Given the description of an element on the screen output the (x, y) to click on. 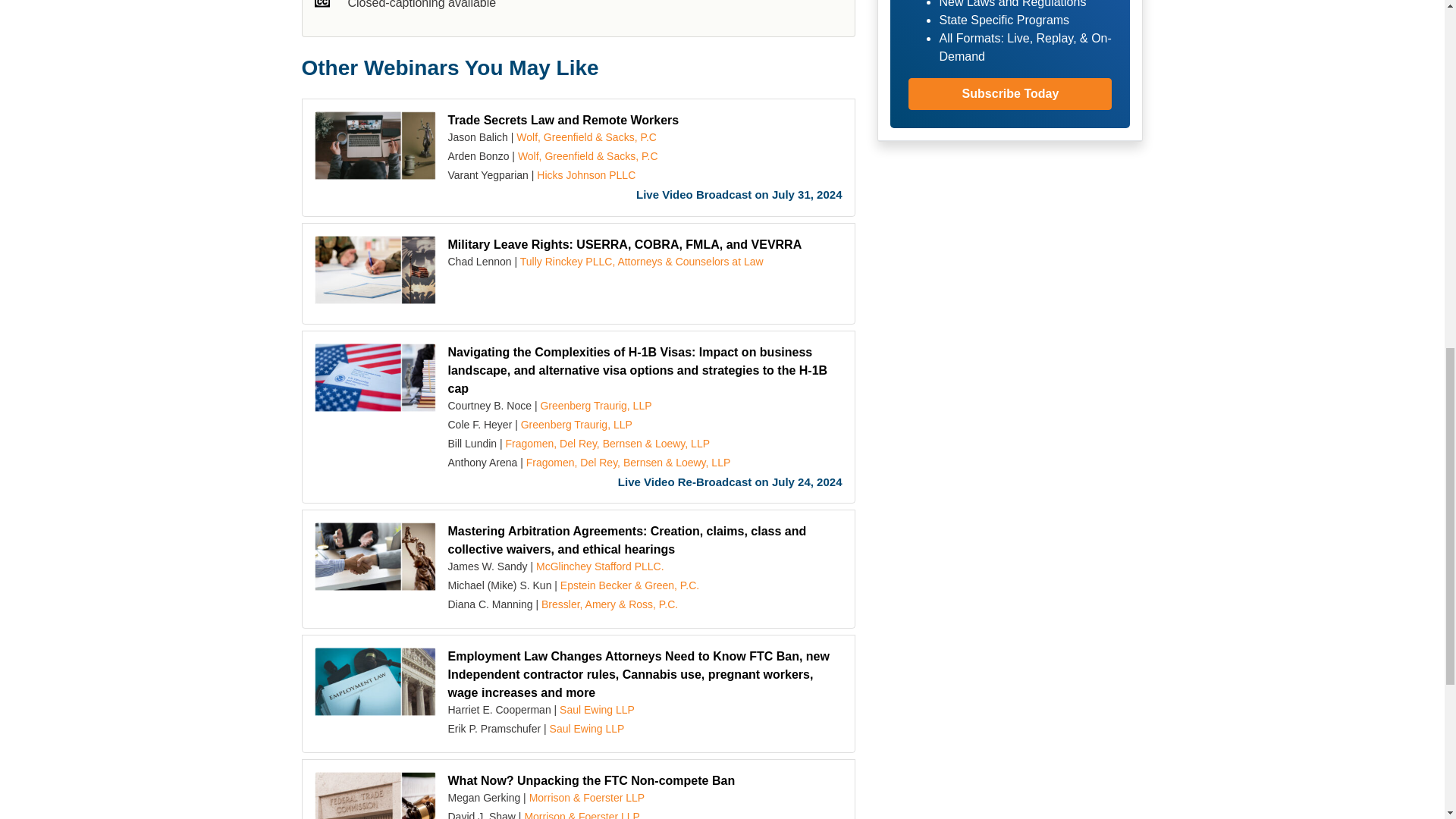
Trade Secrets Law and Remote Workers (562, 119)
What Now? Unpacking the FTC Non-compete Ban (590, 780)
Military Leave Rights: USERRA, COBRA, FMLA, and VEVRRA (624, 244)
Military Leave Rights: USERRA, COBRA, FMLA, and VEVRRA (374, 273)
What Now? Unpacking the FTC Non-compete Ban (374, 795)
Trade Secrets Law and Remote Workers (374, 149)
